Given the description of an element on the screen output the (x, y) to click on. 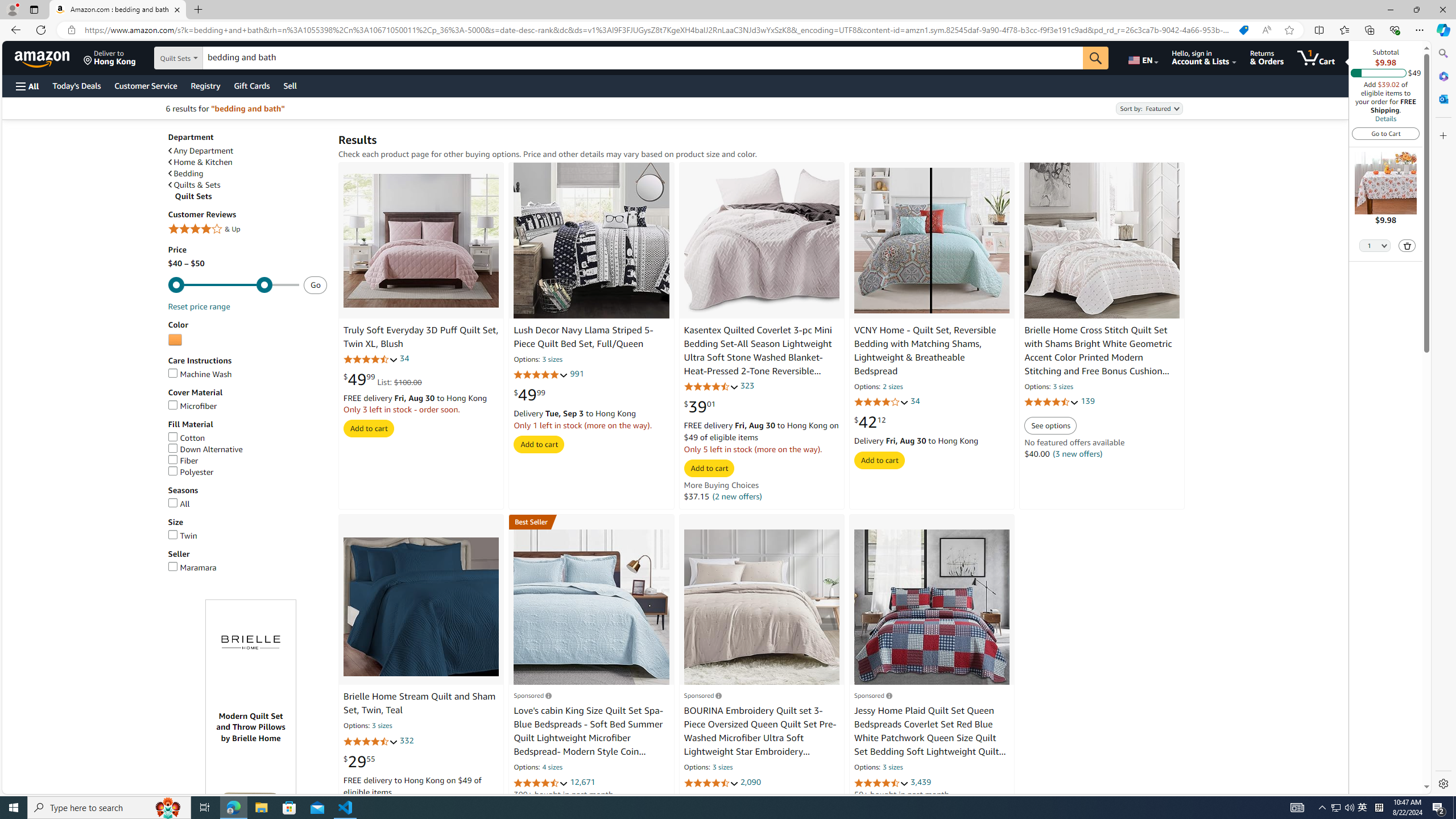
Brielle Home Stream Quilt and Sham Set, Twin, Teal (421, 606)
12,671 (582, 781)
3 sizes (892, 767)
4.4 out of 5 stars (880, 782)
332 (406, 740)
Fiber (182, 460)
Twin (247, 535)
